Given the description of an element on the screen output the (x, y) to click on. 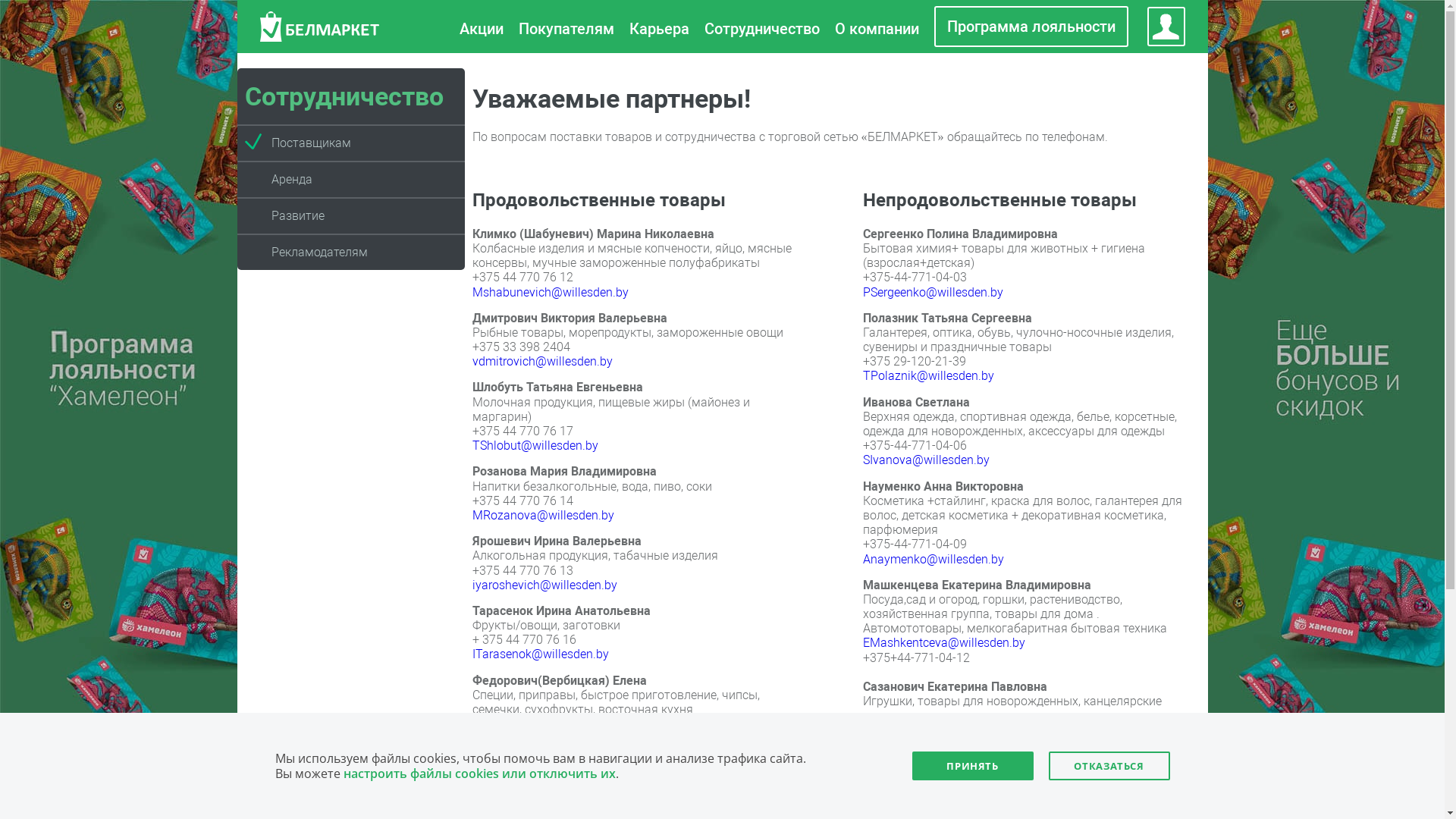
SIvanova@willesden.by Element type: text (925, 459)
JPavlovich@willesden.by Element type: text (539, 807)
iyaroshevich@willesden.by Element type: text (543, 584)
TShlobut@willesden.by Element type: text (534, 445)
Mshabunevich@willesden.by Element type: text (549, 292)
EVerbickaya@willesden.by Element type: text (543, 738)
ESazanovich@willesden.by Element type: text (935, 773)
ITarasenok@willesden.by Element type: text (539, 653)
PSergeenko@willesden.by Element type: text (932, 292)
Anaymenko@willesden.by Element type: text (933, 559)
EMashkentceva@willesden.by Element type: text (943, 642)
vdmitrovich@willesden.by Element type: text (541, 361)
TPolaznik@willesden.by Element type: text (928, 375)
MRozanova@willesden.by Element type: text (542, 515)
